Given the description of an element on the screen output the (x, y) to click on. 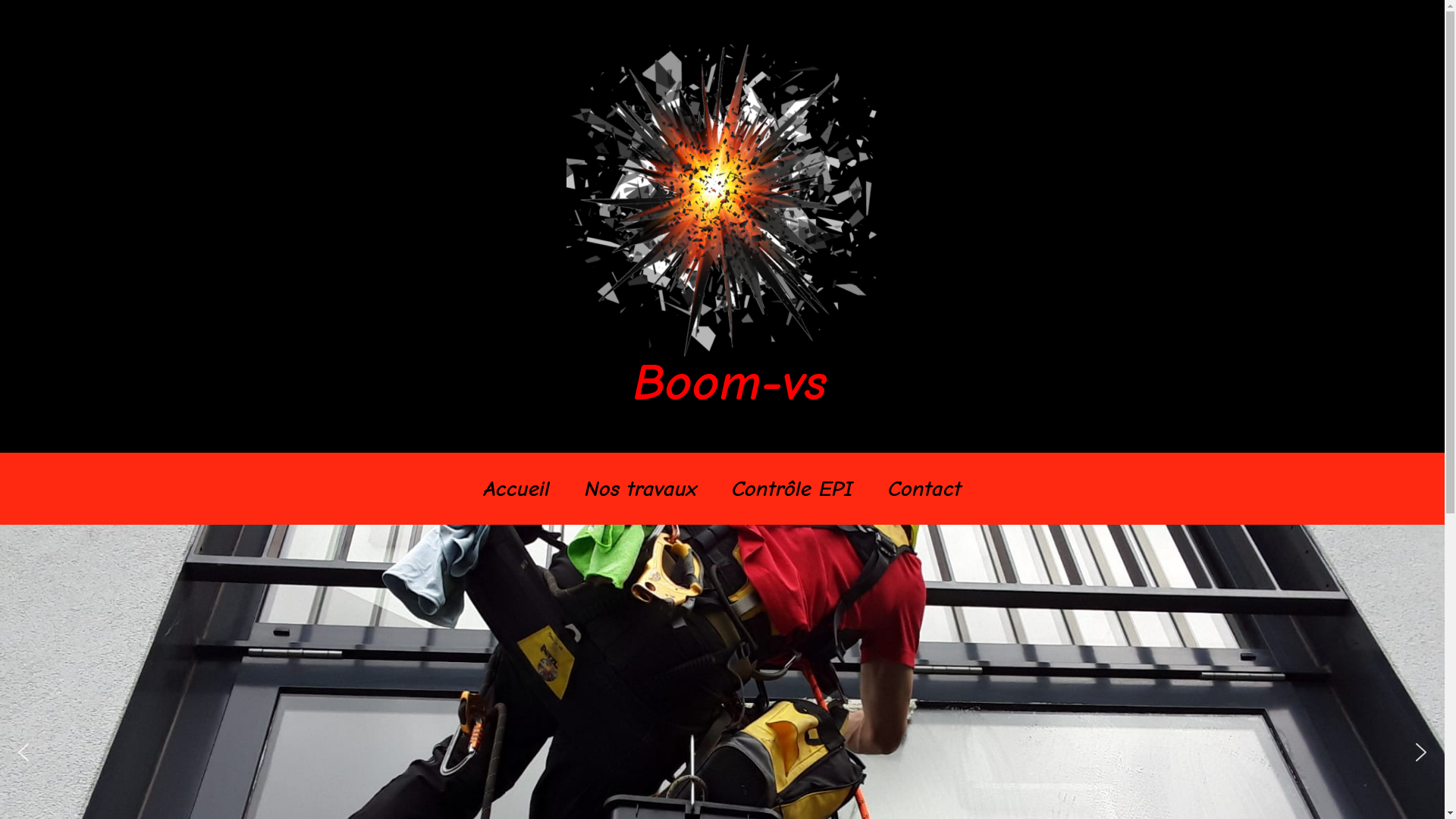
Accueil Element type: text (515, 488)
Nos travaux Element type: text (640, 488)
Boom-vs Element type: text (721, 225)
Contact Element type: text (924, 488)
